Given the description of an element on the screen output the (x, y) to click on. 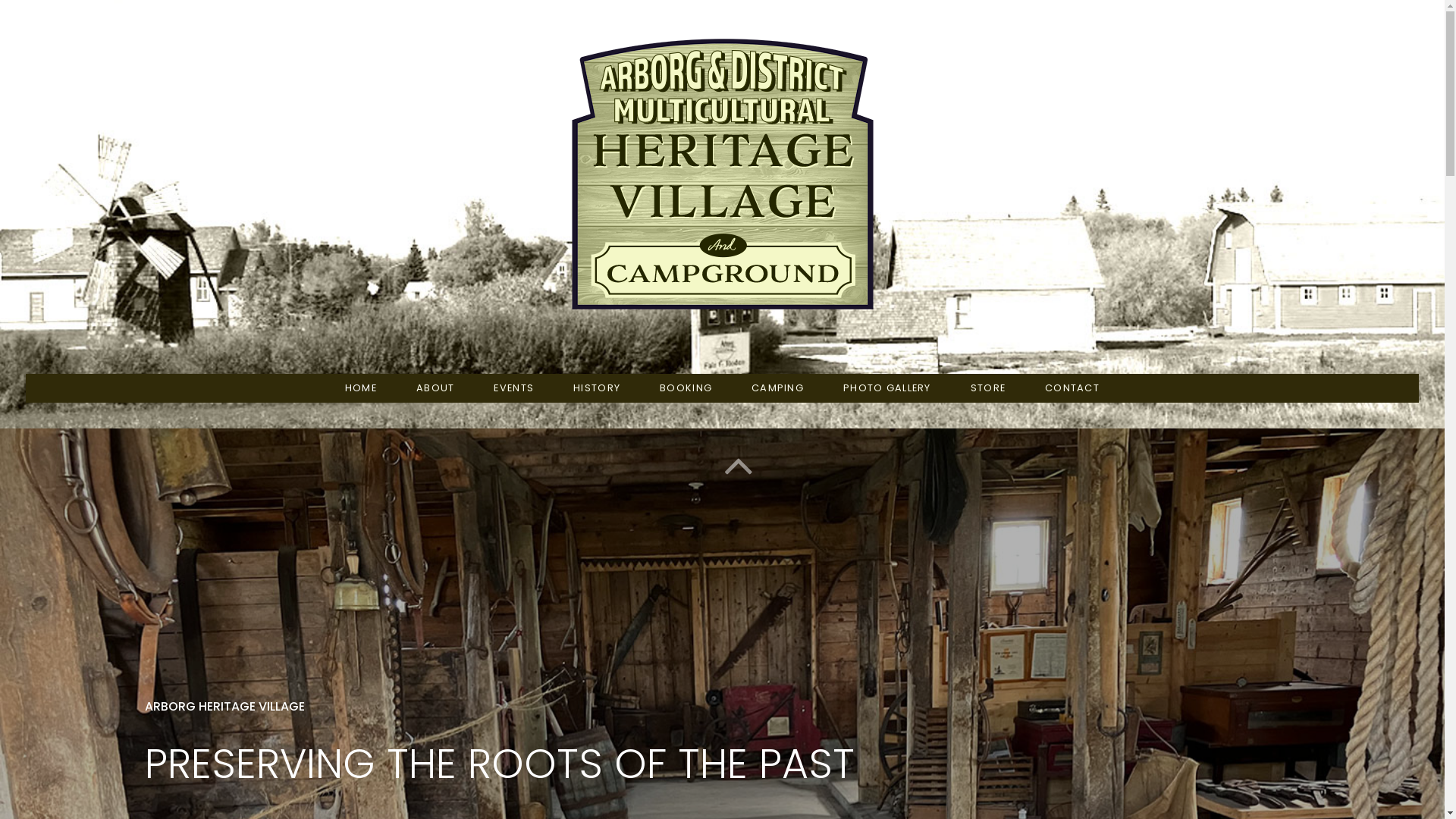
CONTACT Element type: text (1071, 387)
PHOTO GALLERY Element type: text (887, 387)
HISTORY Element type: text (596, 387)
ABOUT Element type: text (435, 387)
STORE Element type: text (987, 387)
CAMPING Element type: text (777, 387)
HOME Element type: text (360, 387)
BOOKING Element type: text (685, 387)
EVENTS Element type: text (513, 387)
